Given the description of an element on the screen output the (x, y) to click on. 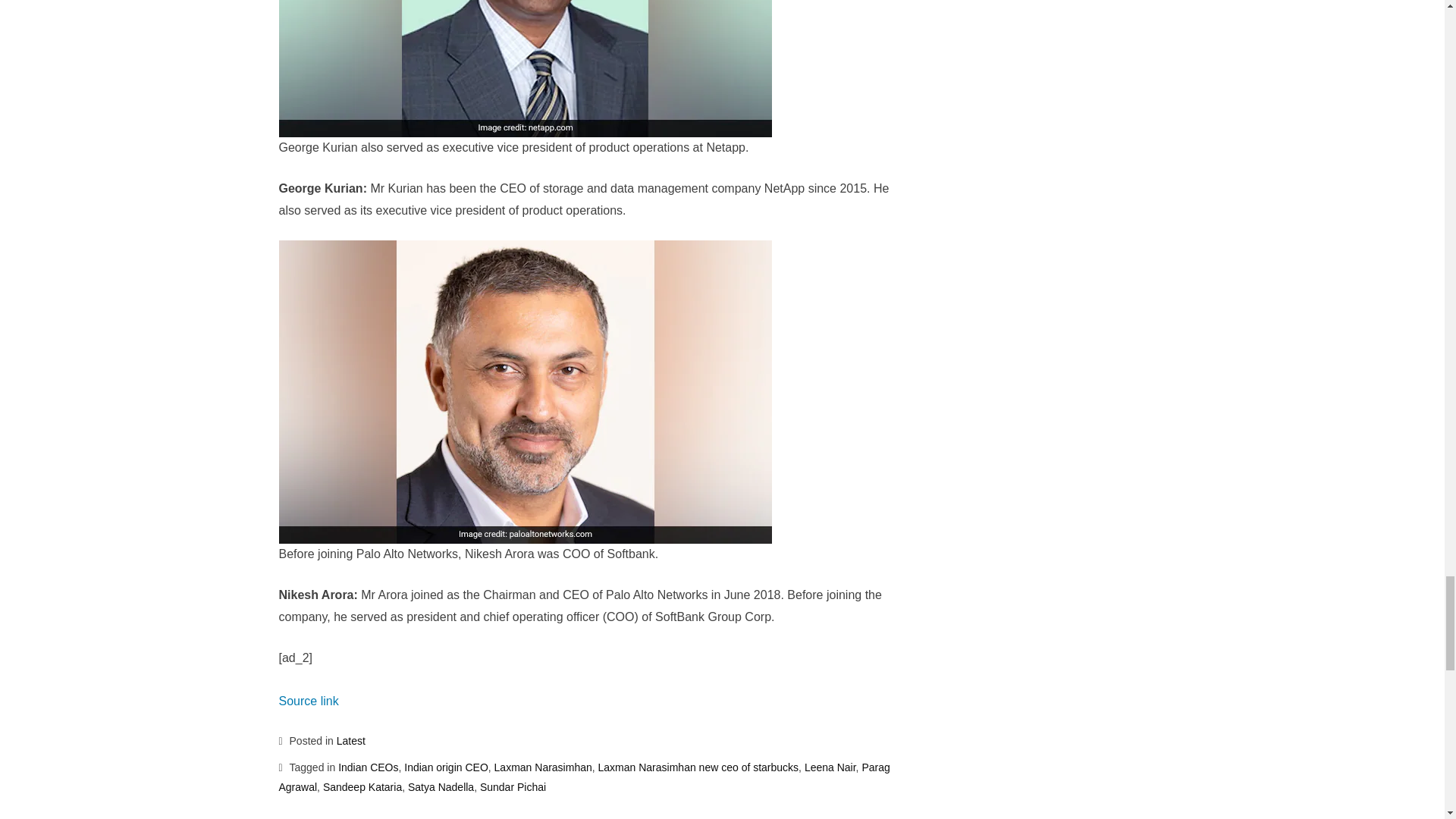
Indian CEOs (367, 767)
Laxman Narasimhan (543, 767)
Parag Agrawal (584, 776)
Laxman Narasimhan new ceo of starbucks (698, 767)
Indian origin CEO (445, 767)
Source link (309, 700)
Sandeep Kataria (362, 787)
Latest (350, 740)
Satya Nadella (440, 787)
Sundar Pichai (513, 787)
Leena Nair (830, 767)
